Given the description of an element on the screen output the (x, y) to click on. 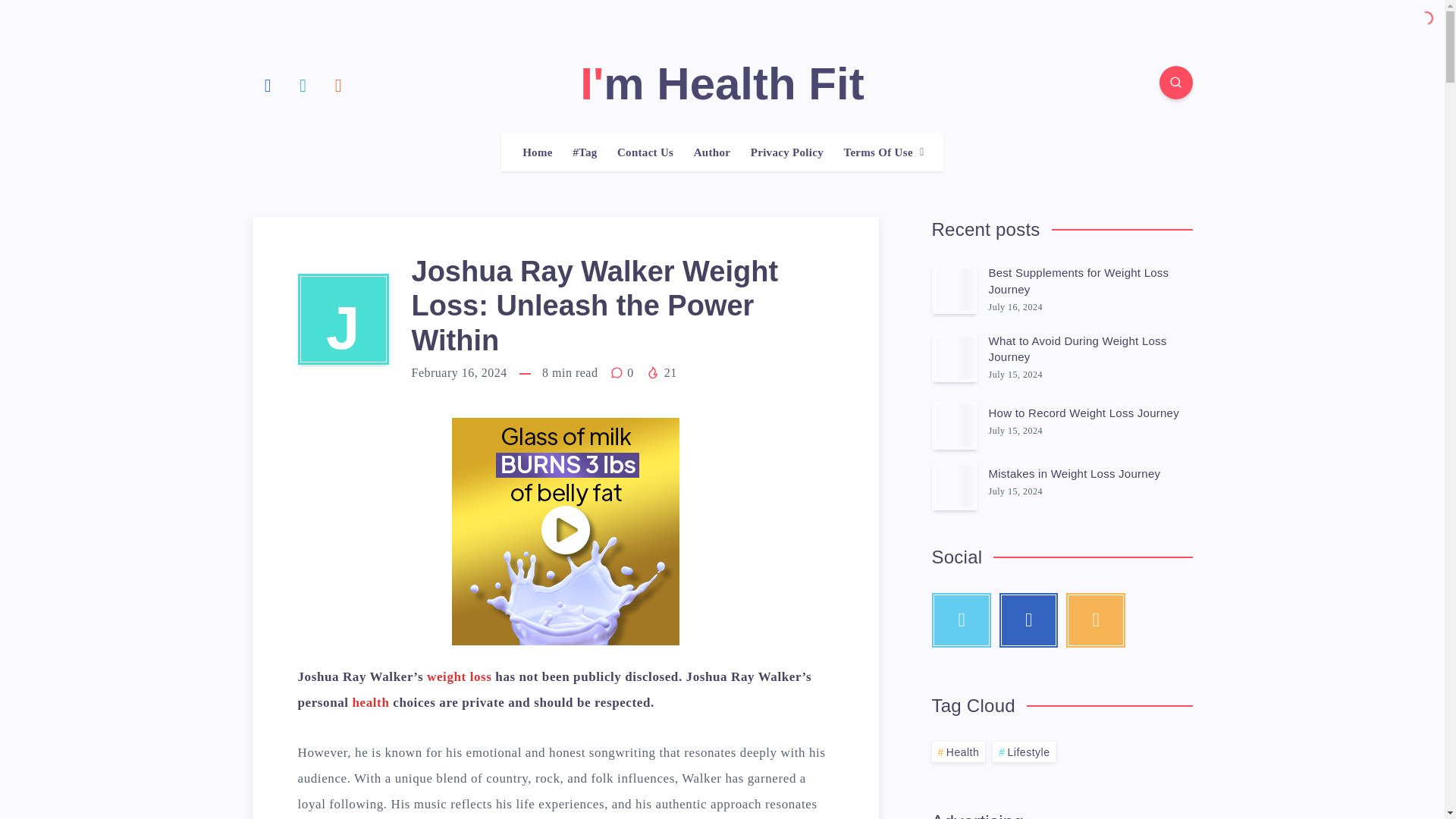
Home (537, 152)
0 Comments (623, 372)
Terms Of Use (877, 152)
I'm Health Fit (721, 83)
weight loss (459, 676)
Privacy Policy (787, 152)
health (370, 702)
0 (623, 372)
Contact Us (644, 152)
Author (712, 152)
